Given the description of an element on the screen output the (x, y) to click on. 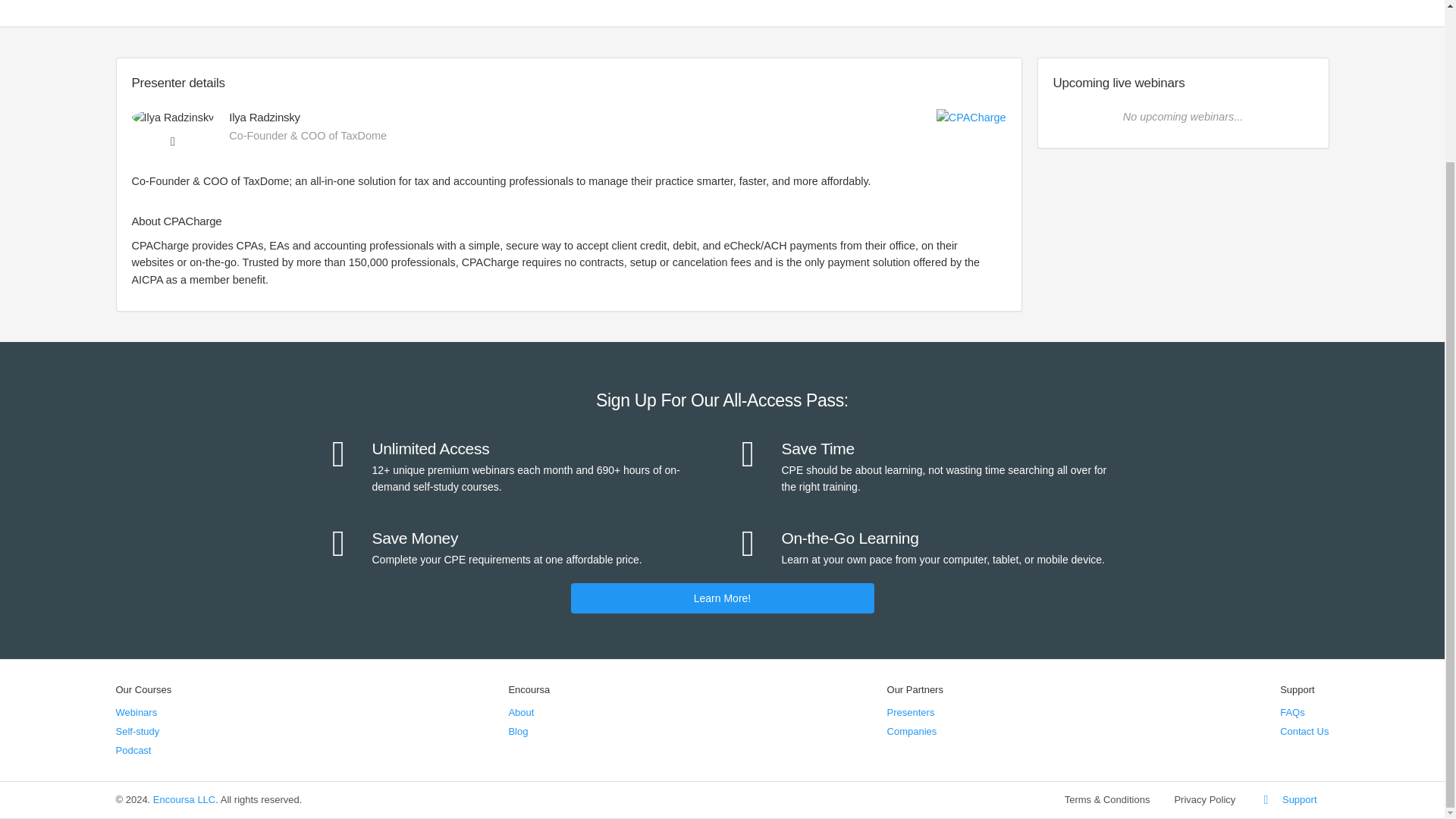
Companies (911, 731)
Support (1287, 800)
FAQs (1291, 712)
About (521, 712)
Encoursa LLC (183, 799)
Learn More! (721, 598)
Podcast (133, 749)
Privacy Policy (1204, 800)
Presenters (910, 712)
Blog (517, 731)
Self-study (136, 731)
CPACharge (971, 117)
Ilya Radzinsky (173, 117)
Contact Us (1303, 731)
Webinars (136, 712)
